Given the description of an element on the screen output the (x, y) to click on. 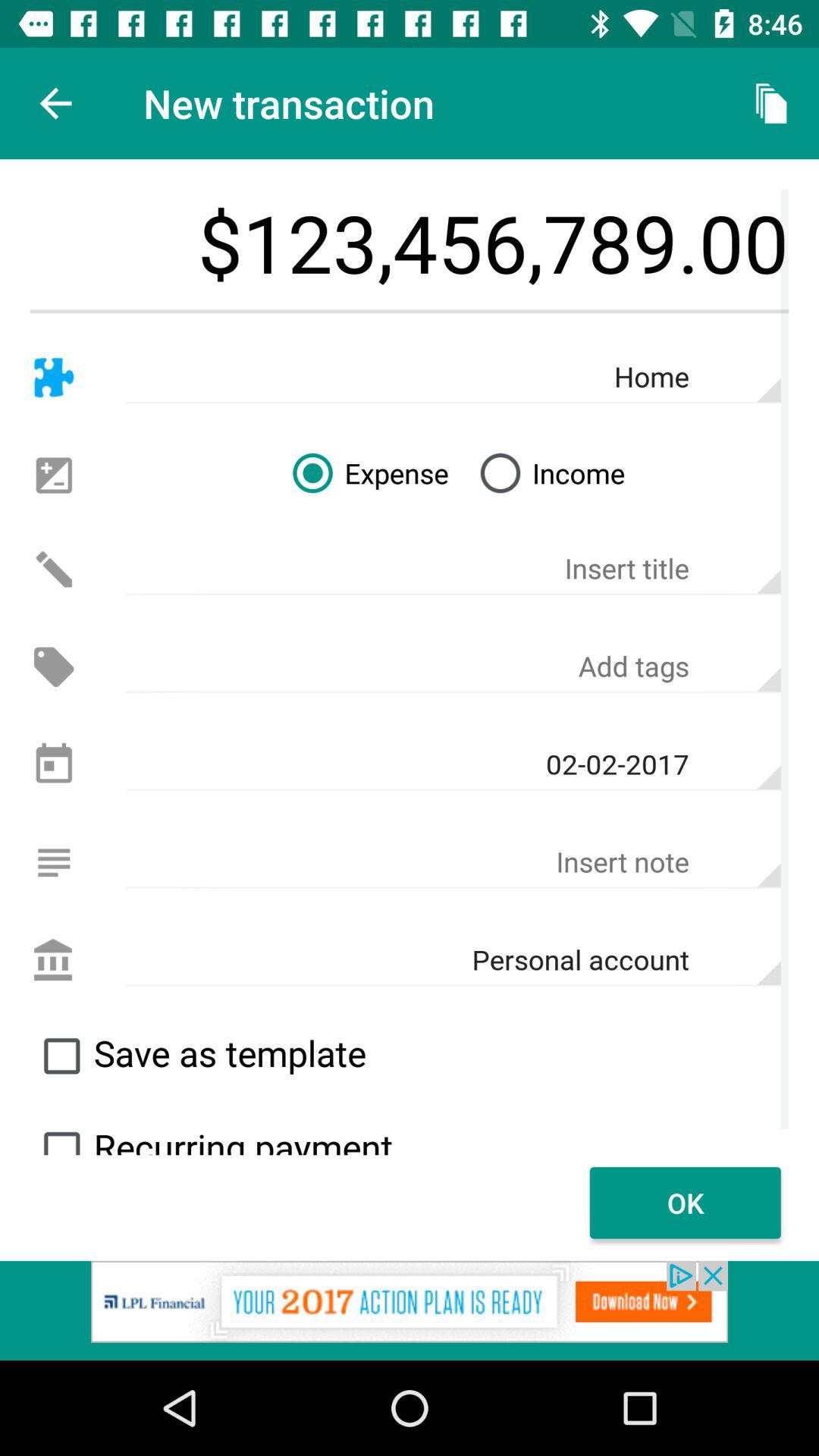
enter text into the insert title field (452, 568)
